Given the description of an element on the screen output the (x, y) to click on. 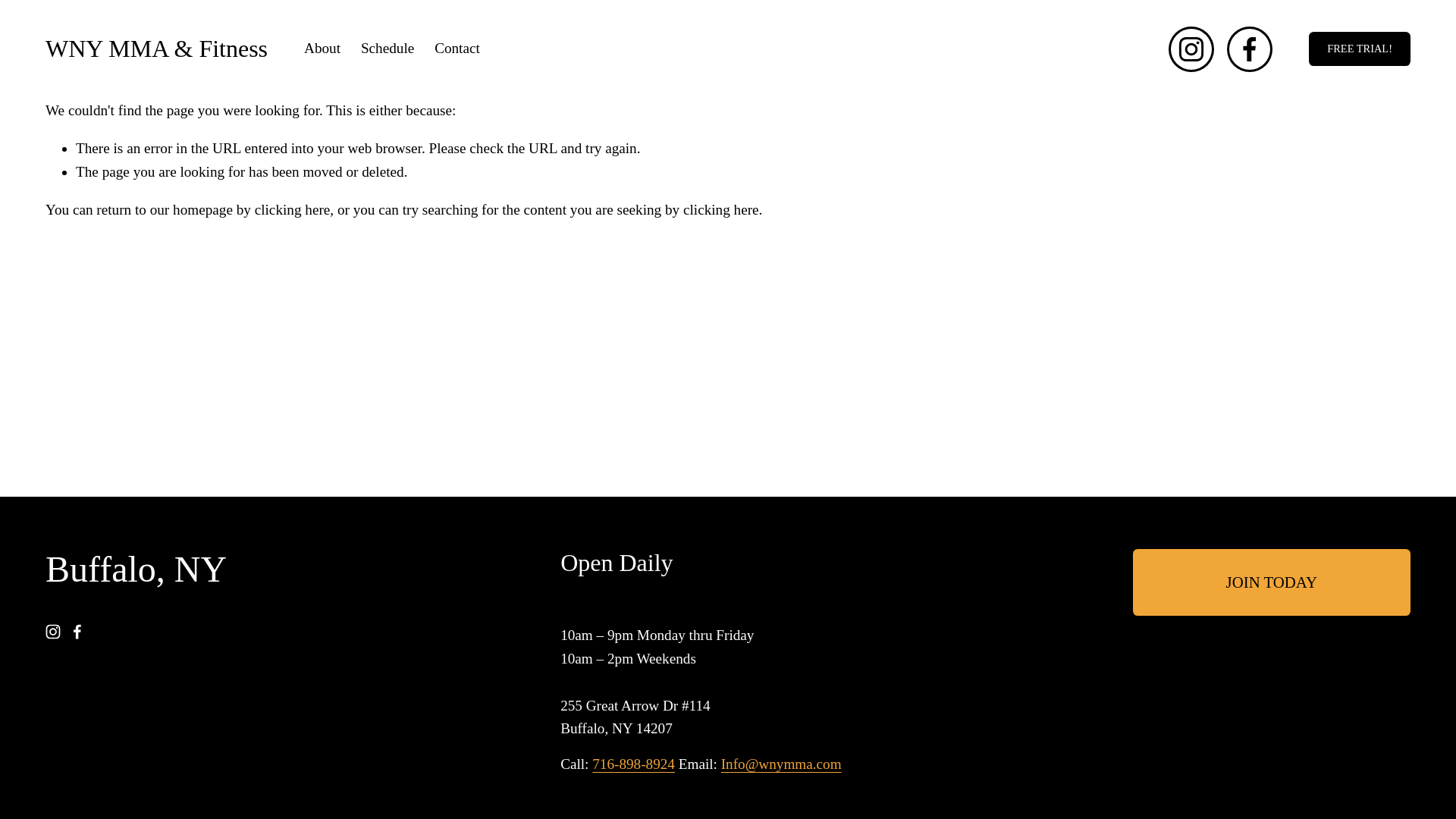
clicking here (292, 209)
clicking here (720, 209)
716-898-8924 (633, 764)
JOIN TODAY (1271, 581)
Contact (456, 49)
Schedule (387, 49)
FREE TRIAL! (1359, 48)
About (322, 49)
